Given the description of an element on the screen output the (x, y) to click on. 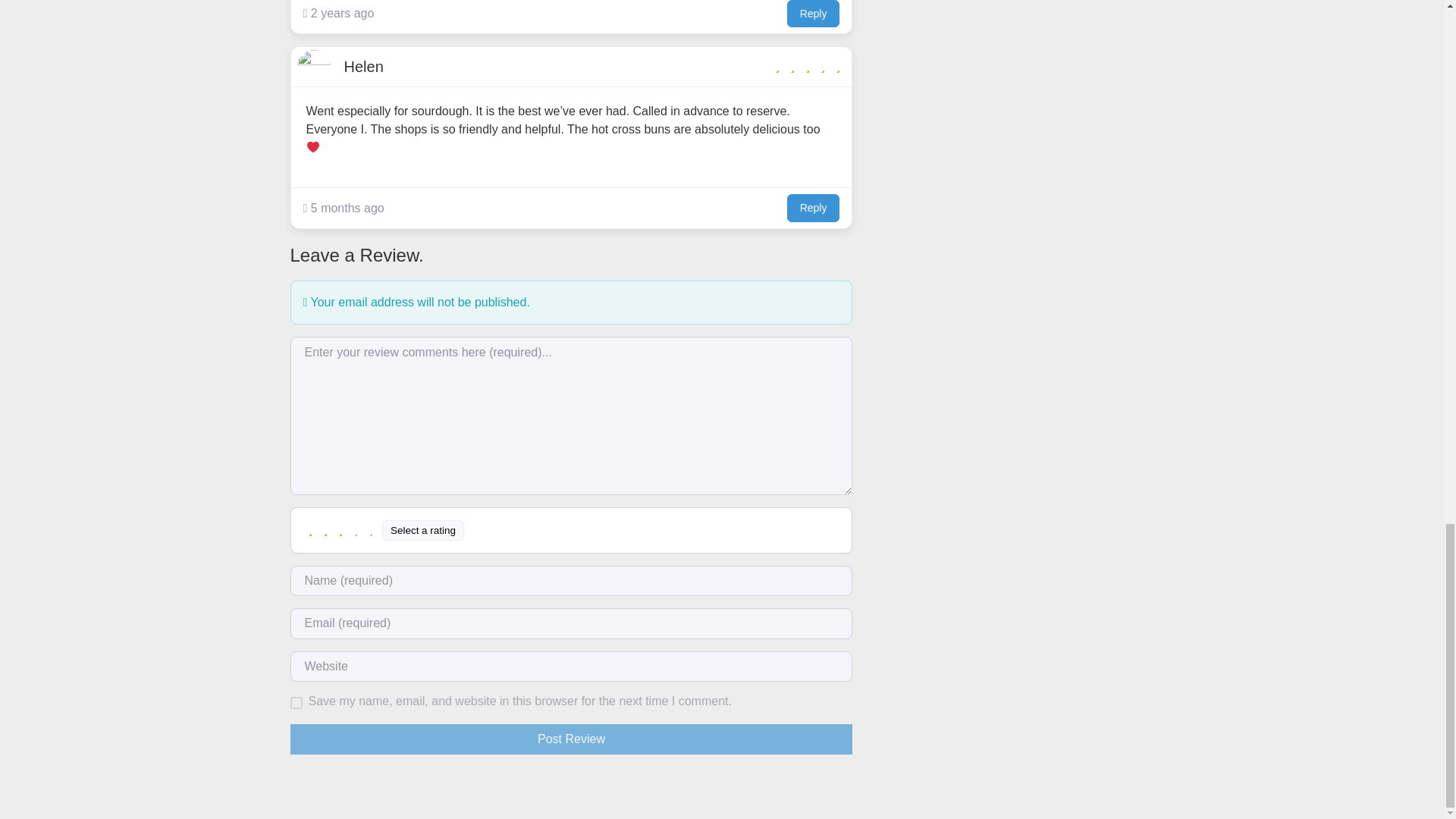
Average (341, 530)
Poor (325, 530)
5 star rating (807, 66)
Reply (813, 207)
Post Review (570, 738)
Terrible (310, 530)
yes (295, 702)
Reply (813, 13)
2 years ago (338, 13)
Post Review (570, 738)
5 months ago (343, 208)
